Given the description of an element on the screen output the (x, y) to click on. 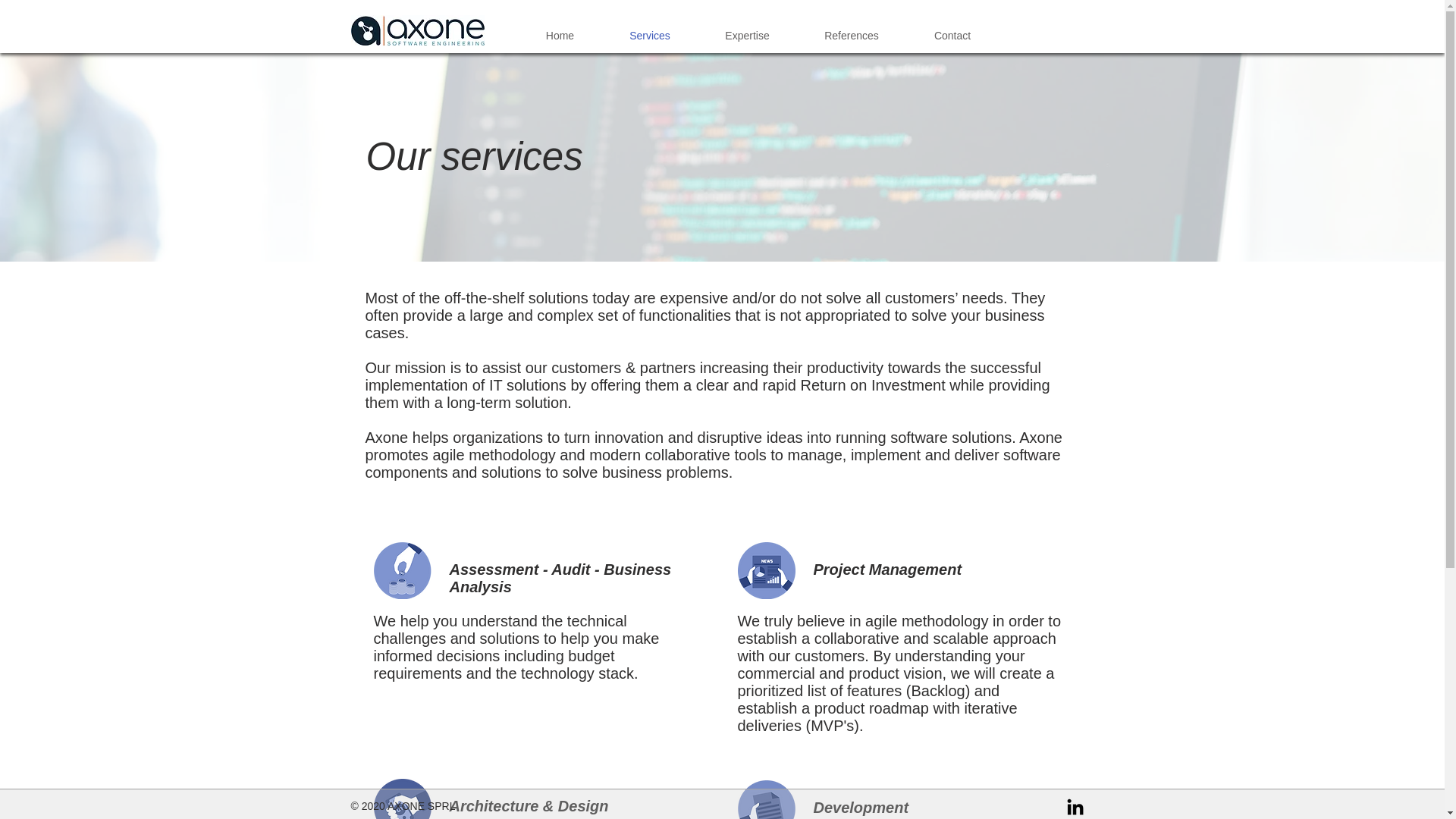
Axone SPRL (417, 30)
Home (559, 35)
References (851, 35)
Expertise (747, 35)
Contact (951, 35)
Services (649, 35)
